Given the description of an element on the screen output the (x, y) to click on. 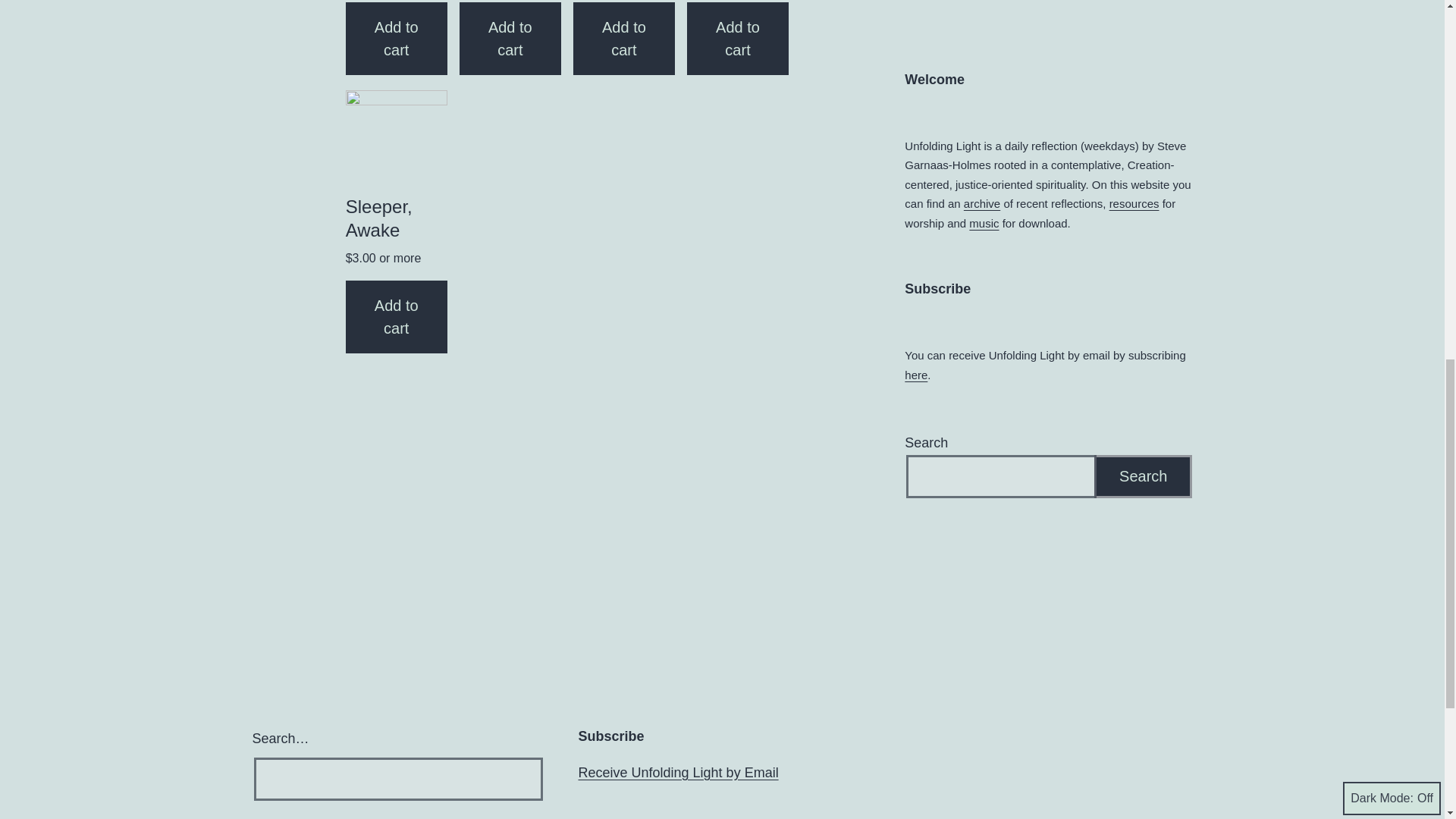
Receive Unfolding Light by Email (677, 772)
Add to cart (396, 38)
Add to cart (738, 38)
Add to cart (624, 38)
Add to cart (396, 316)
archive (981, 203)
music (983, 223)
Add to cart (510, 38)
Search (1143, 476)
here (915, 374)
